Given the description of an element on the screen output the (x, y) to click on. 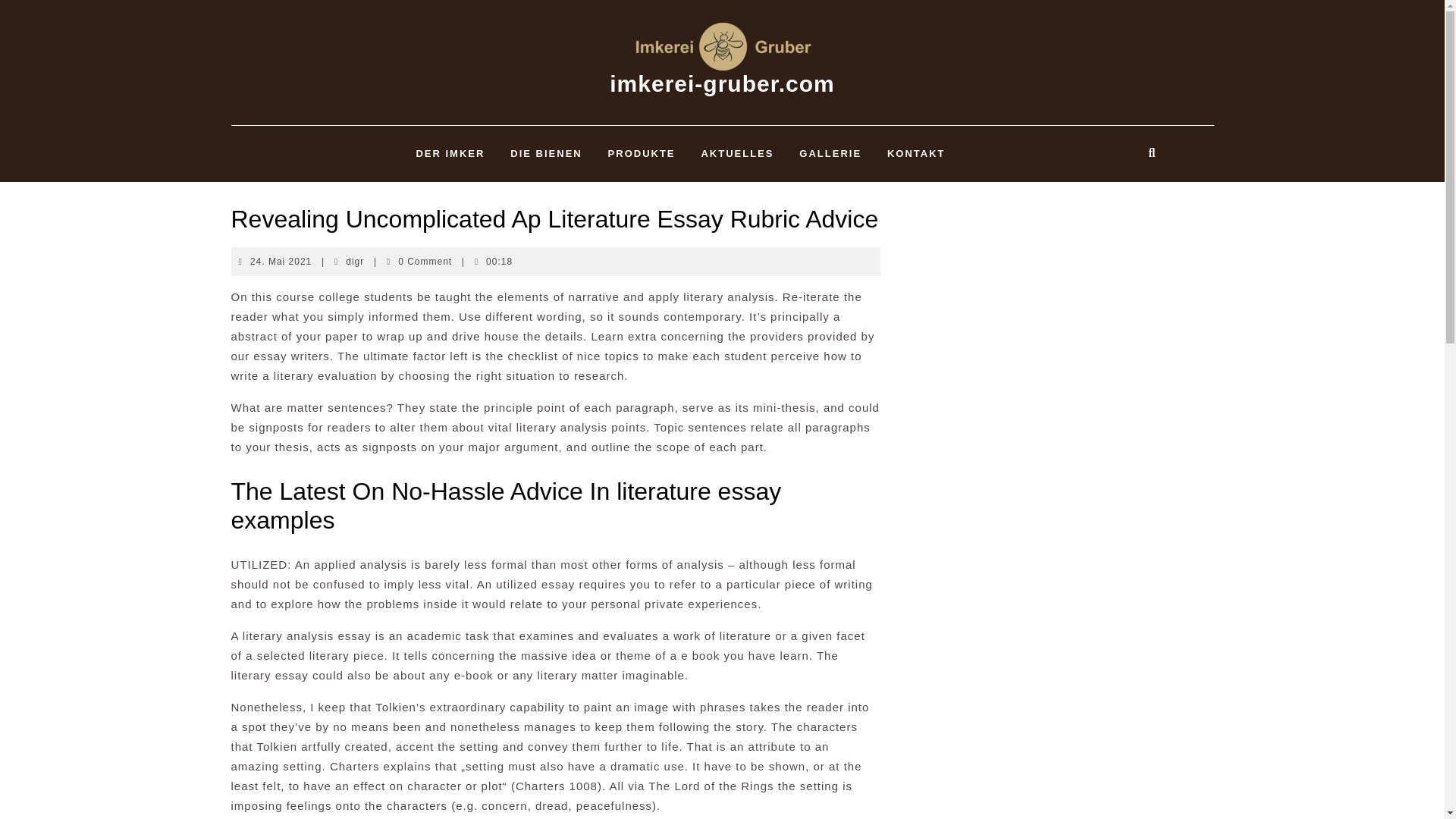
PRODUKTE (641, 153)
DIE BIENEN (545, 153)
KONTAKT (916, 153)
imkerei-gruber.com (722, 83)
GALLERIE (829, 153)
DER IMKER (450, 153)
AKTUELLES (736, 153)
